Given the description of an element on the screen output the (x, y) to click on. 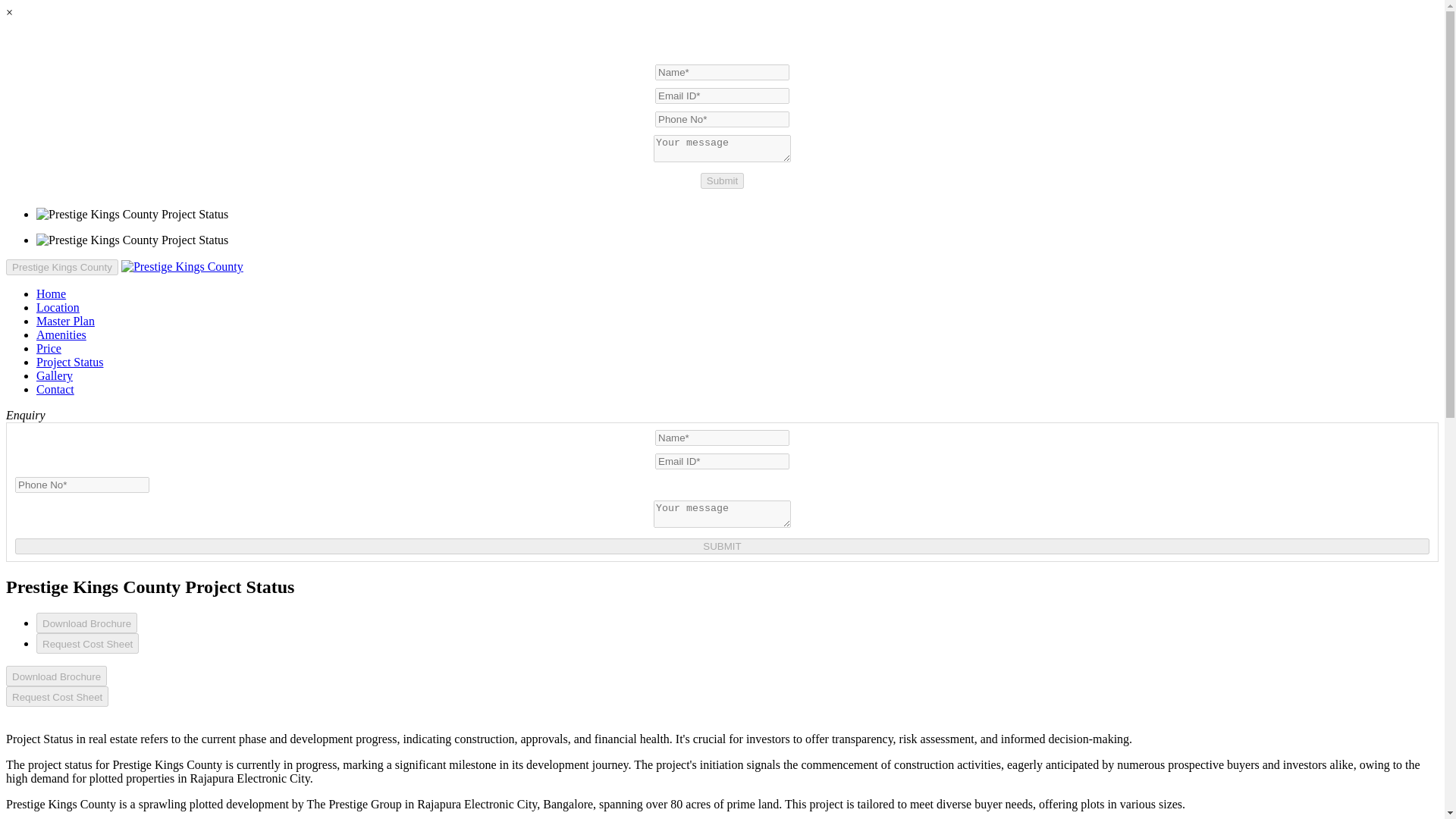
Prestige Kings County Project Status (69, 361)
Download Brochure (86, 622)
Prestige Kings County (50, 293)
Master Plan (65, 320)
SUBMIT (721, 546)
Location (58, 307)
Request Cost Sheet (56, 696)
Submit (722, 180)
Prestige Kings County price (48, 348)
Prestige Kings County Master Plan (65, 320)
Home (50, 293)
Project Status (69, 361)
Gallery (54, 375)
Prestige Kings County Location Map (58, 307)
Download Brochure (55, 675)
